Given the description of an element on the screen output the (x, y) to click on. 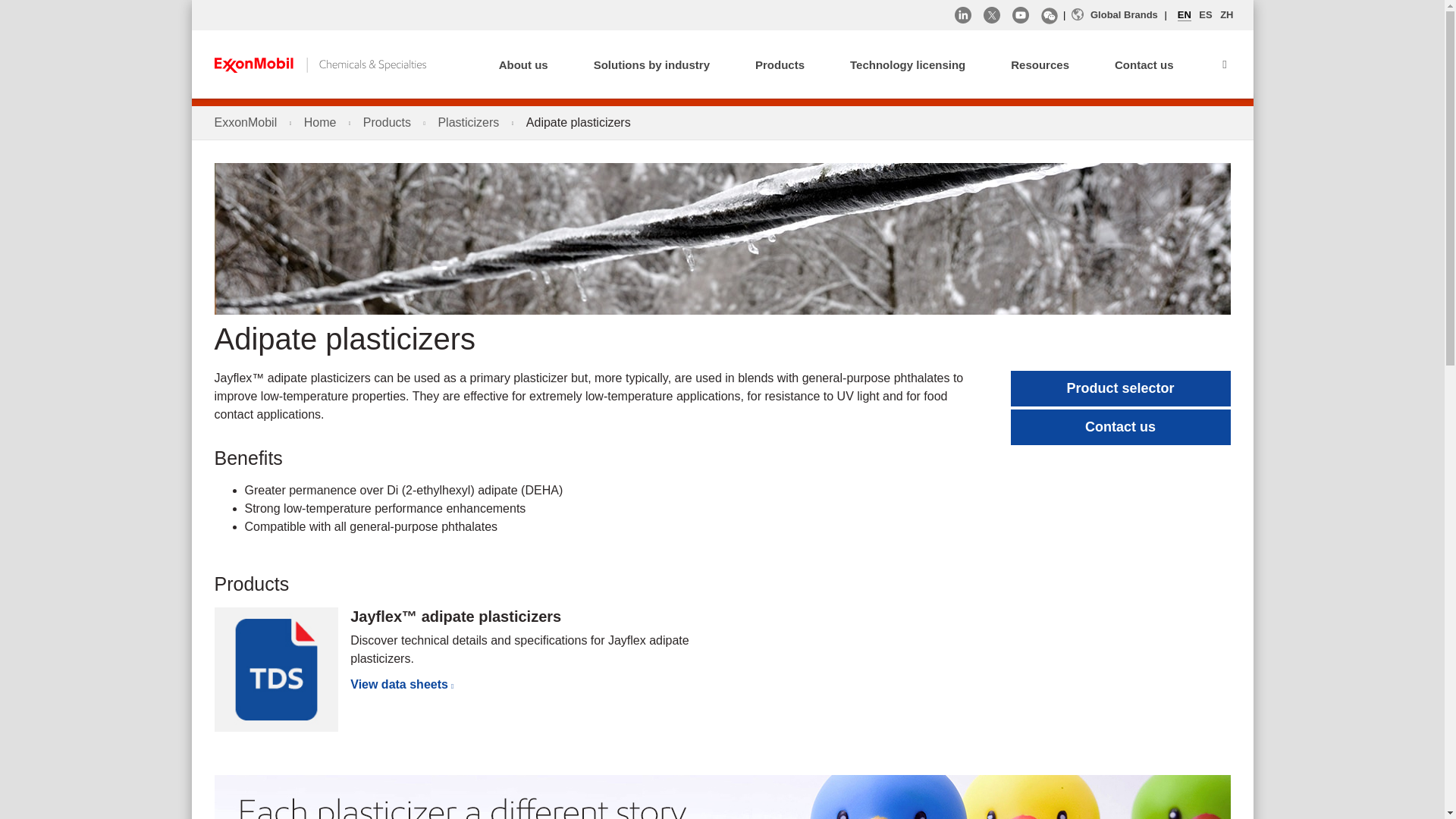
EN (1184, 15)
Global Brands (1114, 15)
Header logo (319, 63)
